Given the description of an element on the screen output the (x, y) to click on. 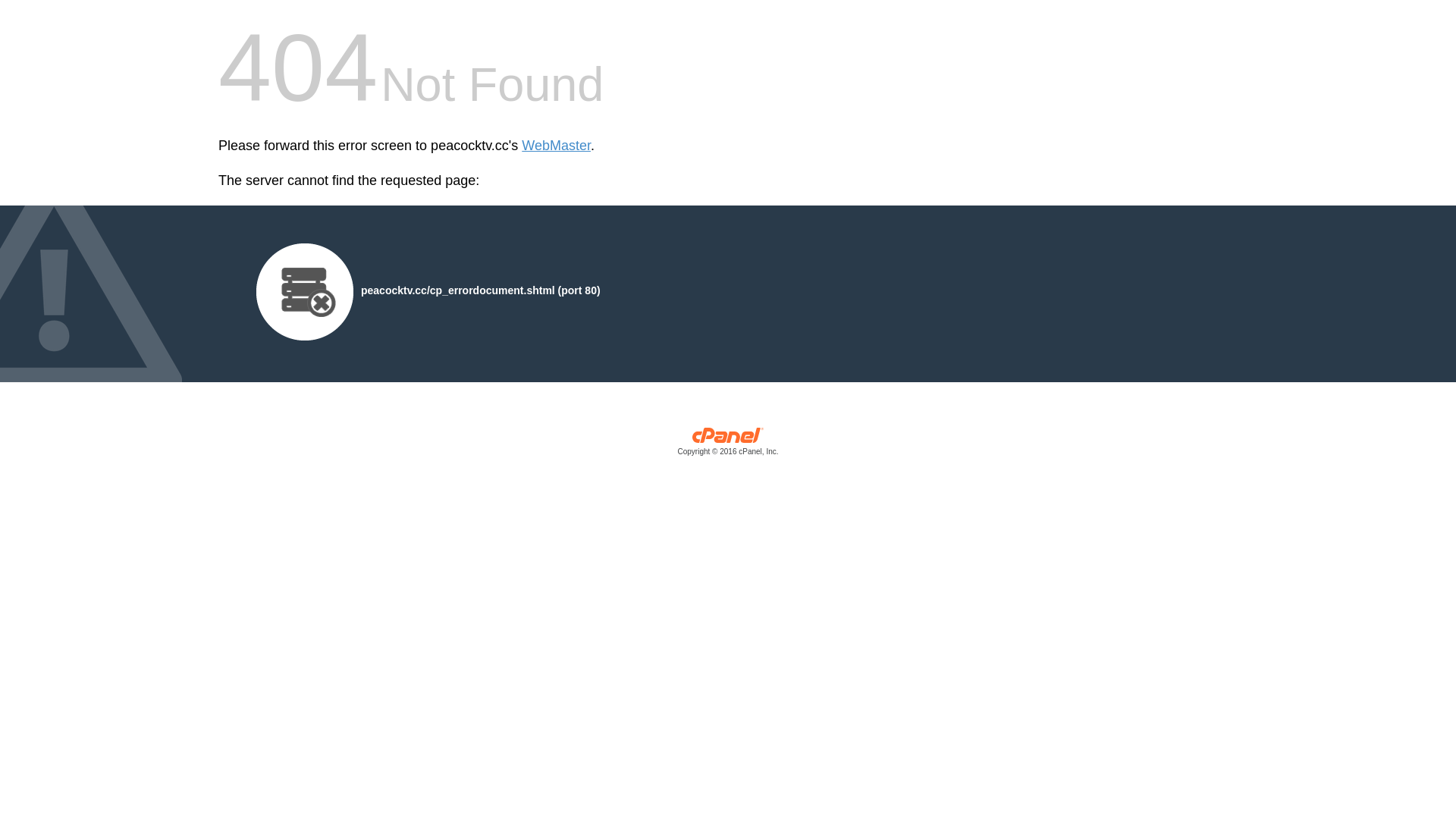
WebMaster Element type: text (555, 145)
